Given the description of an element on the screen output the (x, y) to click on. 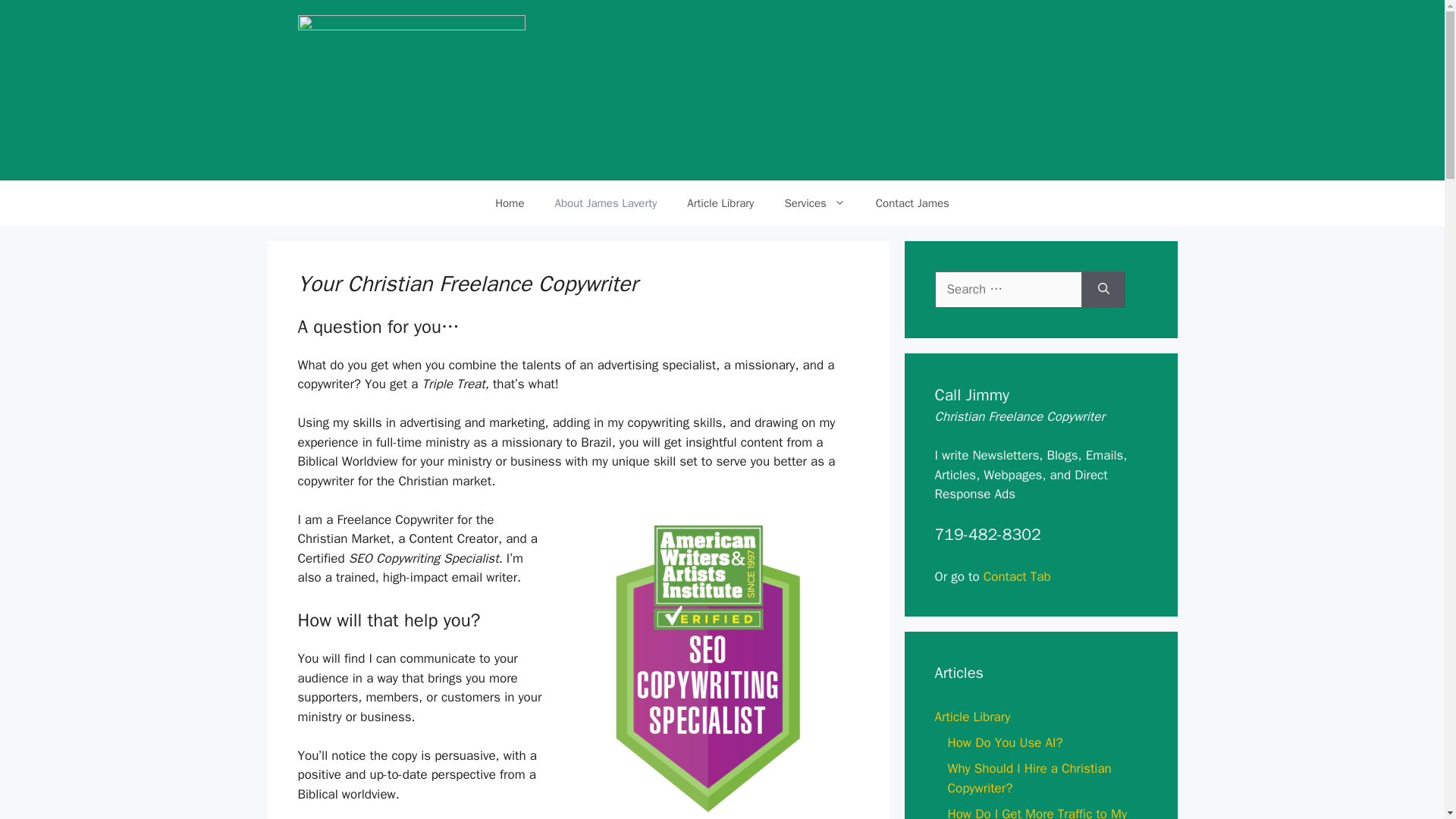
How Do I Get More Traffic to My Website (1036, 812)
About James Laverty (604, 203)
Why Should I Hire a Christian Copywriter? (1029, 778)
Article Library (719, 203)
Search for: (1007, 289)
Services (814, 203)
How Do You Use AI? (1004, 742)
Contact Tab (1017, 576)
Contact James (911, 203)
Home (509, 203)
